Given the description of an element on the screen output the (x, y) to click on. 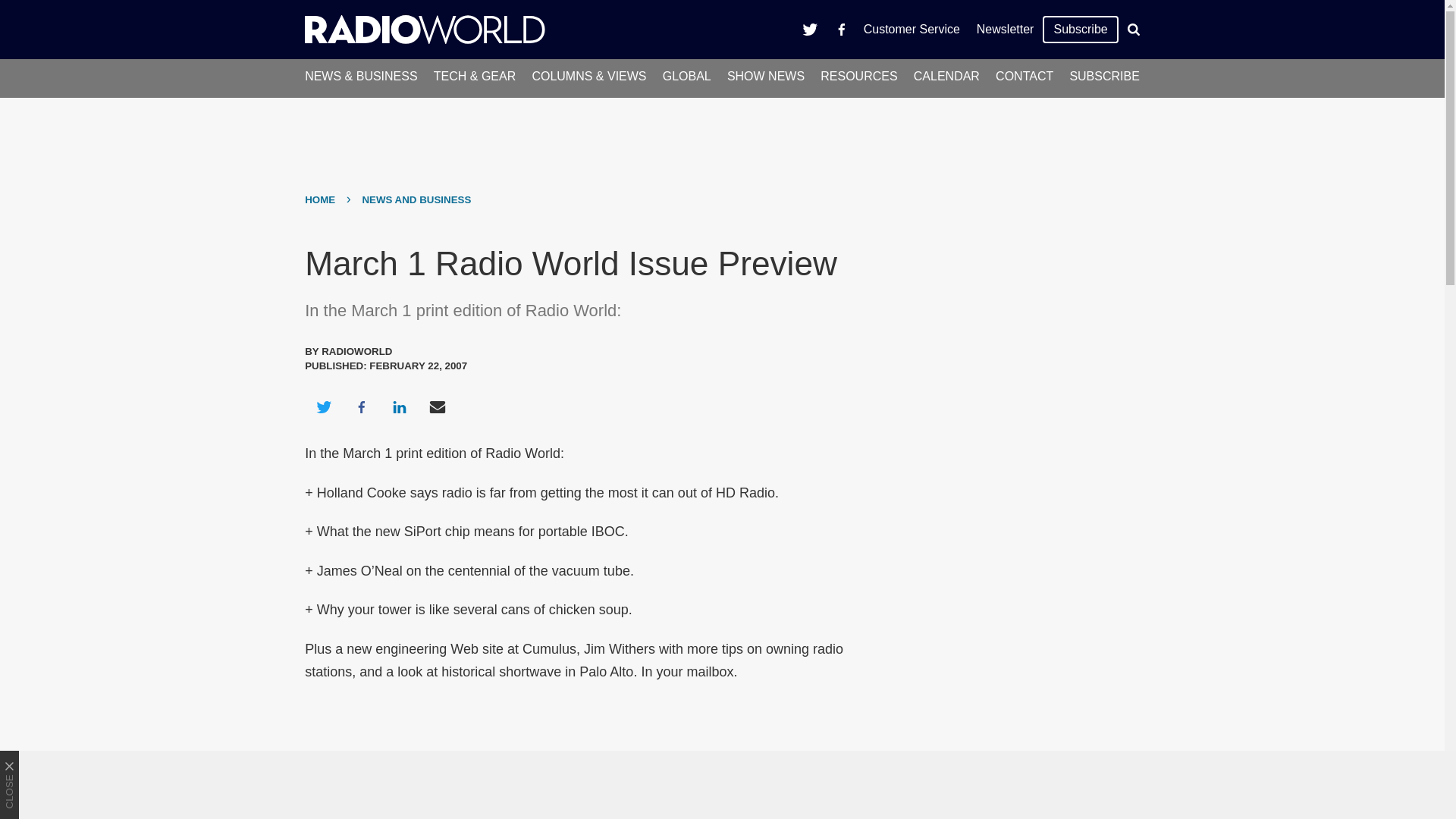
Share on LinkedIn (399, 406)
Share via Email (438, 406)
Share on Facebook (361, 406)
Share on Twitter (323, 406)
Customer Service (912, 29)
